Given the description of an element on the screen output the (x, y) to click on. 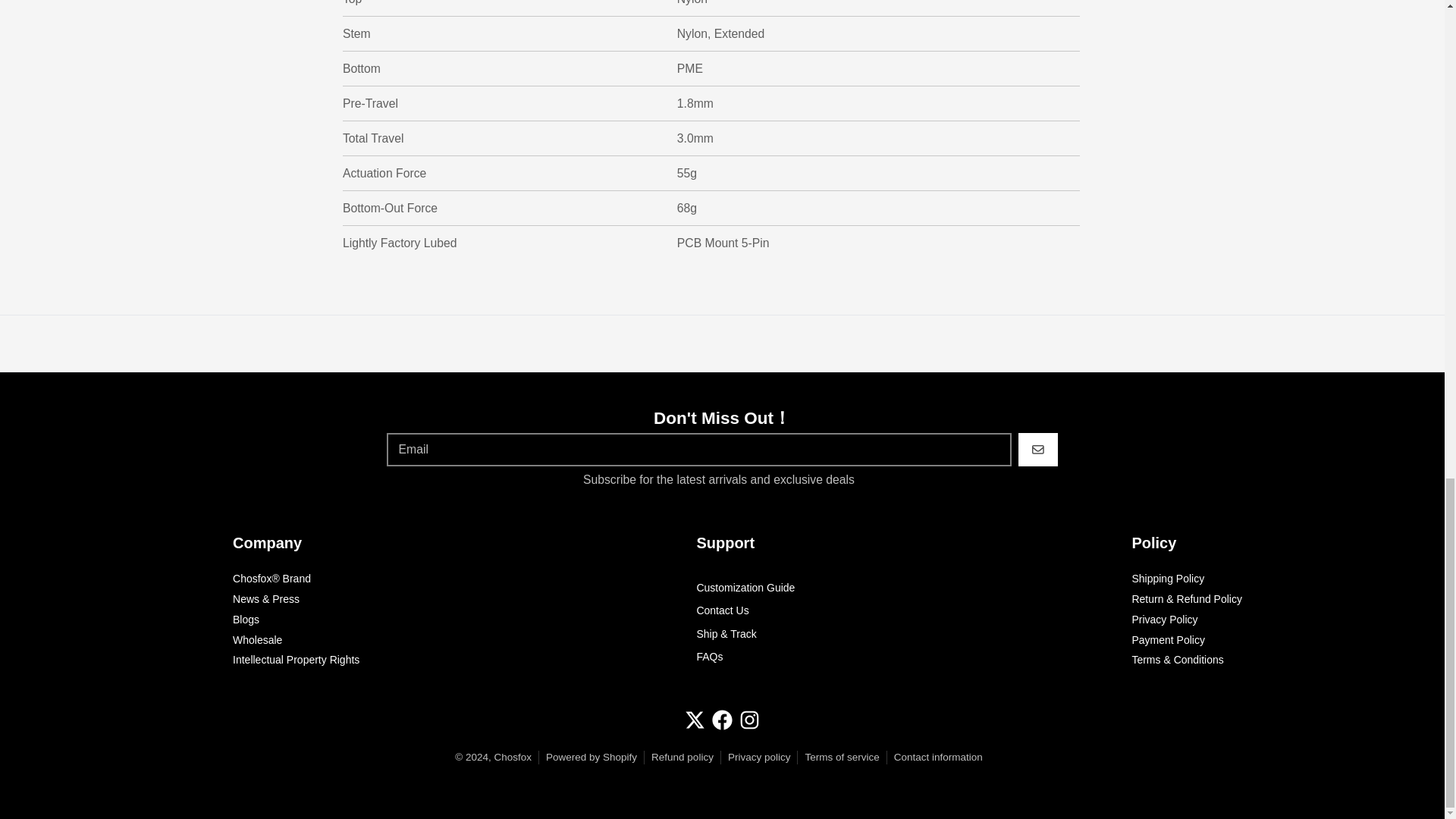
Instagram - Chosfox (749, 720)
Twitter - Chosfox (694, 720)
Facebook - Chosfox (721, 720)
